Given the description of an element on the screen output the (x, y) to click on. 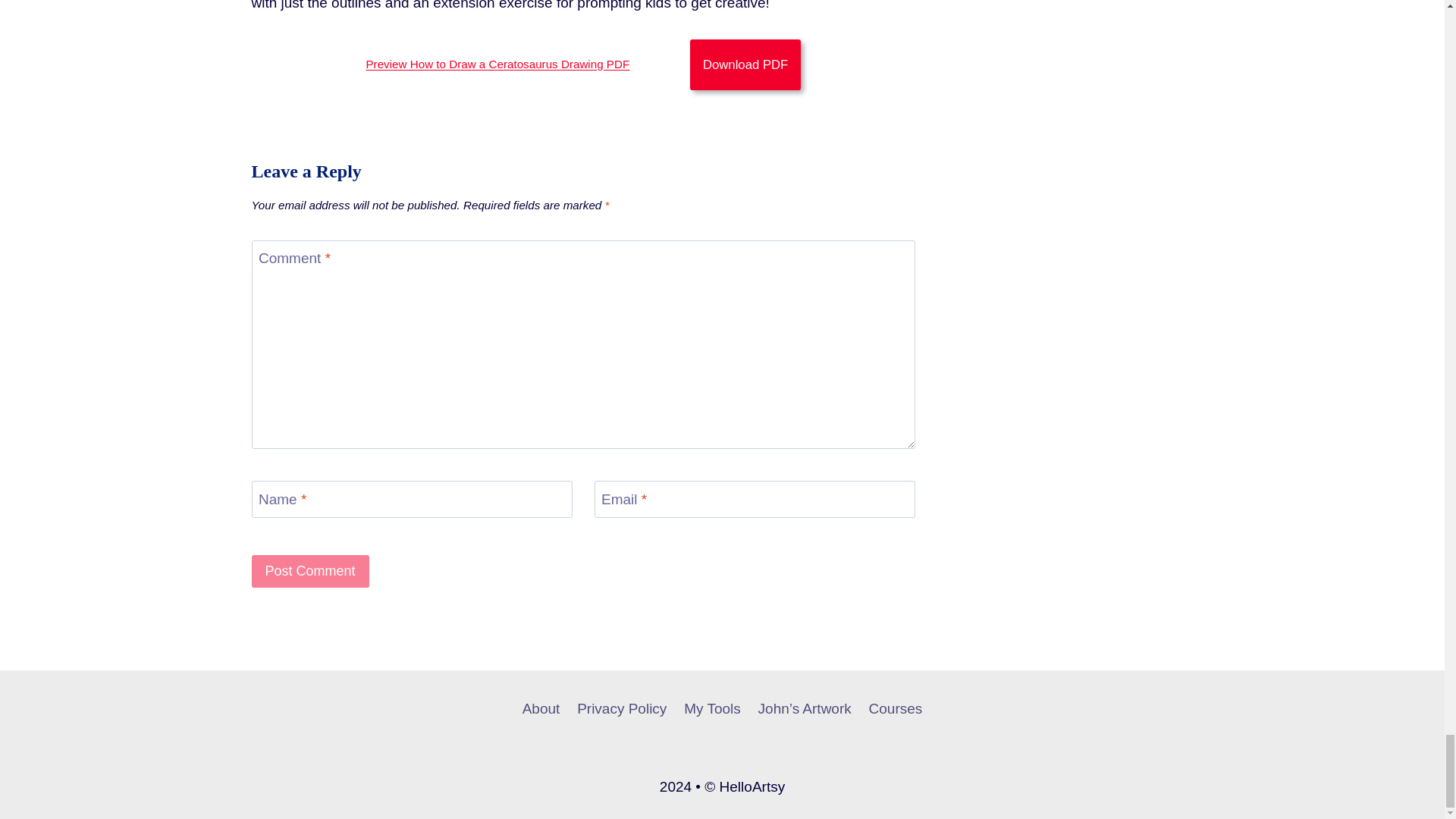
About (540, 709)
Post Comment (310, 571)
My Tools (712, 709)
Privacy Policy (622, 709)
Download PDF (745, 64)
Preview How to Draw a Ceratosaurus Drawing PDF (496, 64)
Post Comment (310, 571)
Courses (895, 709)
